Given the description of an element on the screen output the (x, y) to click on. 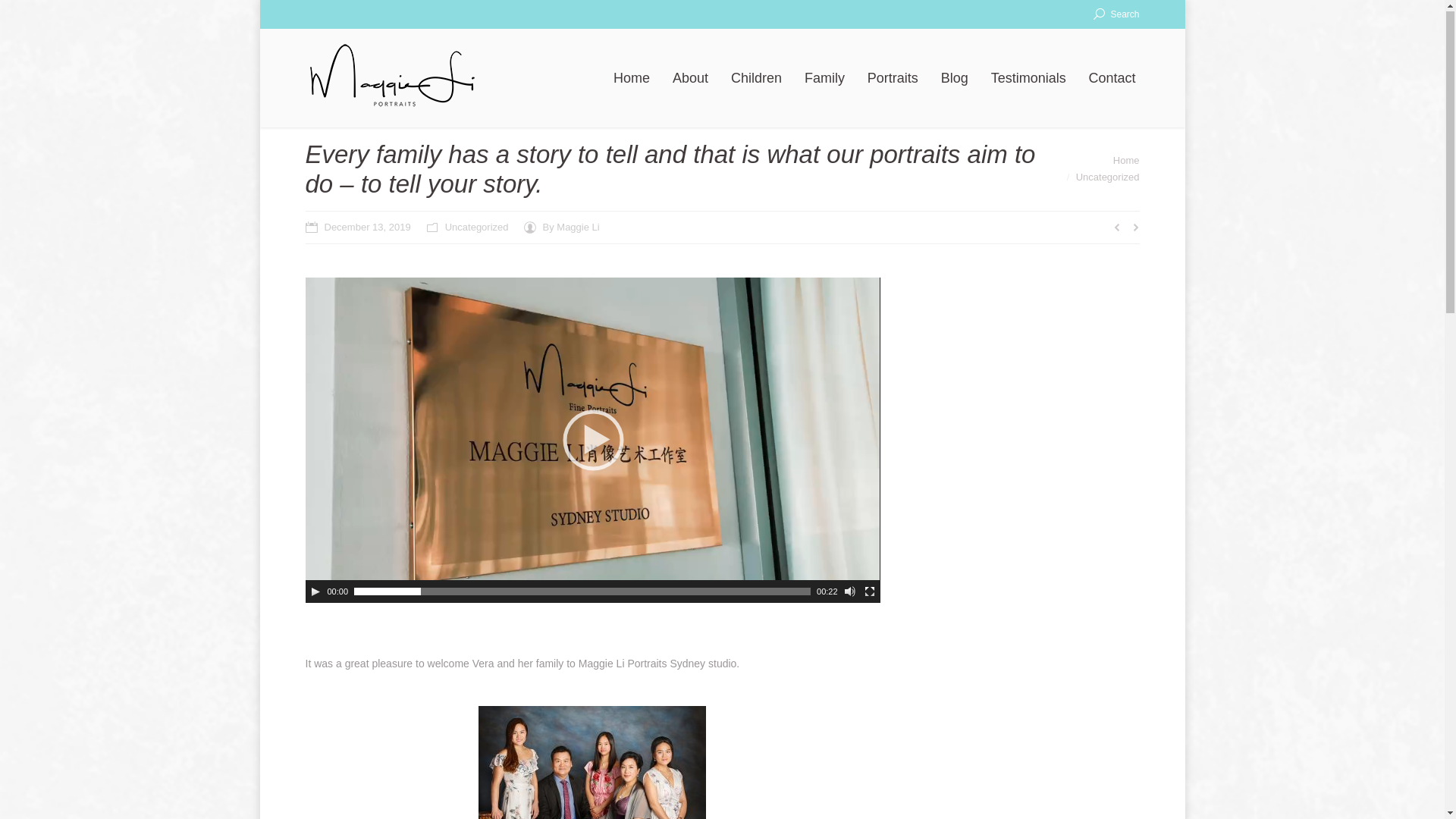
Home Element type: text (631, 79)
Home Element type: text (1126, 160)
Go! Element type: text (738, 395)
By Maggie Li Element type: text (561, 227)
Family Element type: text (824, 79)
December 13, 2019 Element type: text (357, 227)
Fullscreen Element type: hover (869, 592)
Uncategorized Element type: text (476, 227)
Blog Element type: text (954, 79)
Mute Element type: hover (850, 592)
Uncategorized Element type: text (1107, 177)
Children Element type: text (756, 79)
Search Element type: text (1116, 14)
Testimonials Element type: text (1028, 79)
About Element type: text (690, 79)
Play Element type: hover (315, 592)
Portraits Element type: text (892, 79)
Contact Element type: text (1112, 79)
Go! Element type: text (16, 14)
